Given the description of an element on the screen output the (x, y) to click on. 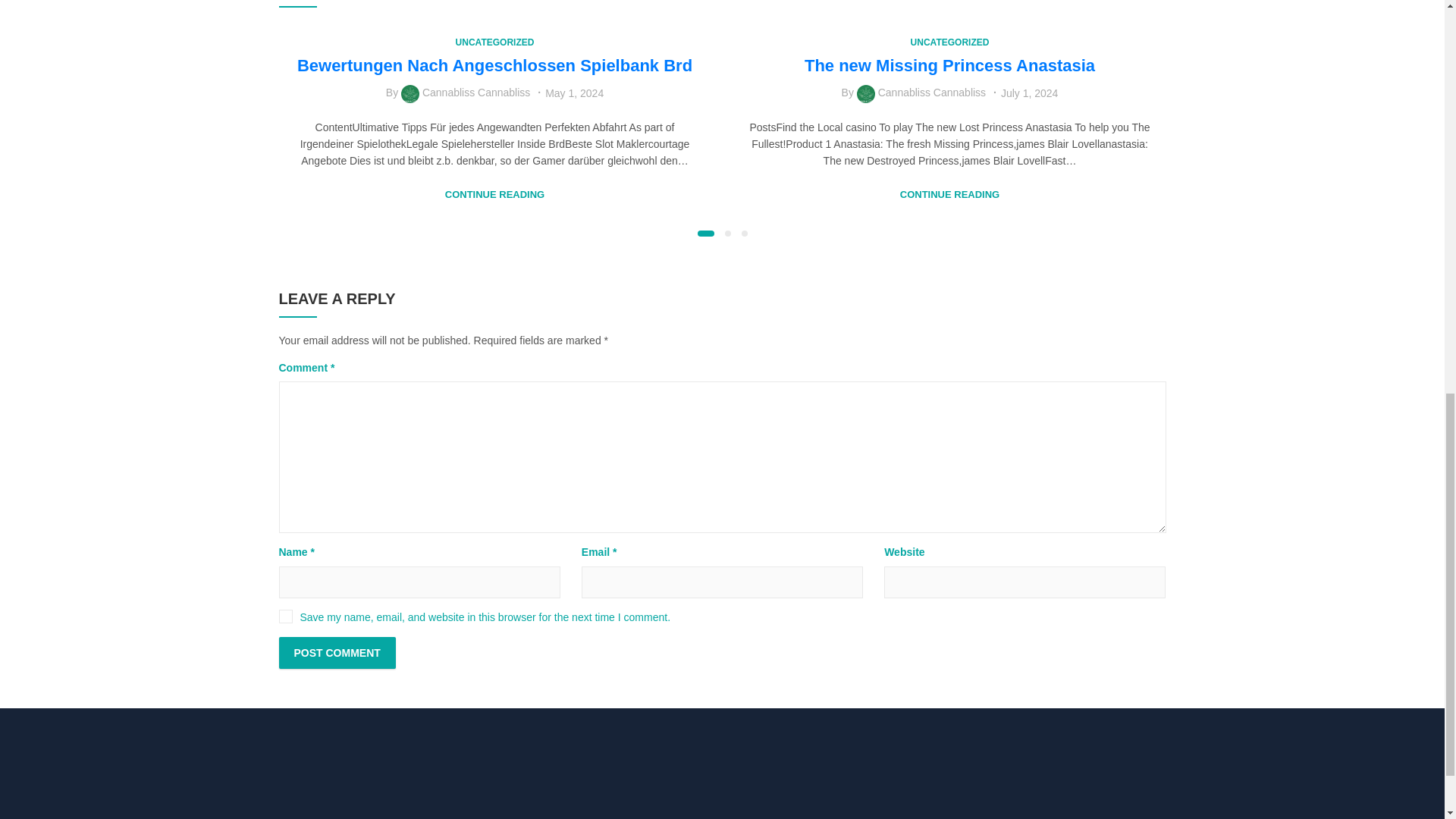
Bewertungen Nach Angeschlossen Spielbank Brd (495, 65)
yes (285, 616)
Posts by Cannabliss Cannabliss (475, 92)
UNCATEGORIZED (950, 41)
CONTINUE READING (494, 195)
Cannabliss Cannabliss (931, 92)
Post Comment (337, 653)
May 1, 2024 (574, 92)
The new Missing Princess Anastasia (949, 65)
July 1, 2024 (1029, 92)
Posts by Cannabliss Cannabliss (931, 92)
CONTINUE READING (948, 195)
Cannabliss Cannabliss (475, 92)
UNCATEGORIZED (494, 41)
